Given the description of an element on the screen output the (x, y) to click on. 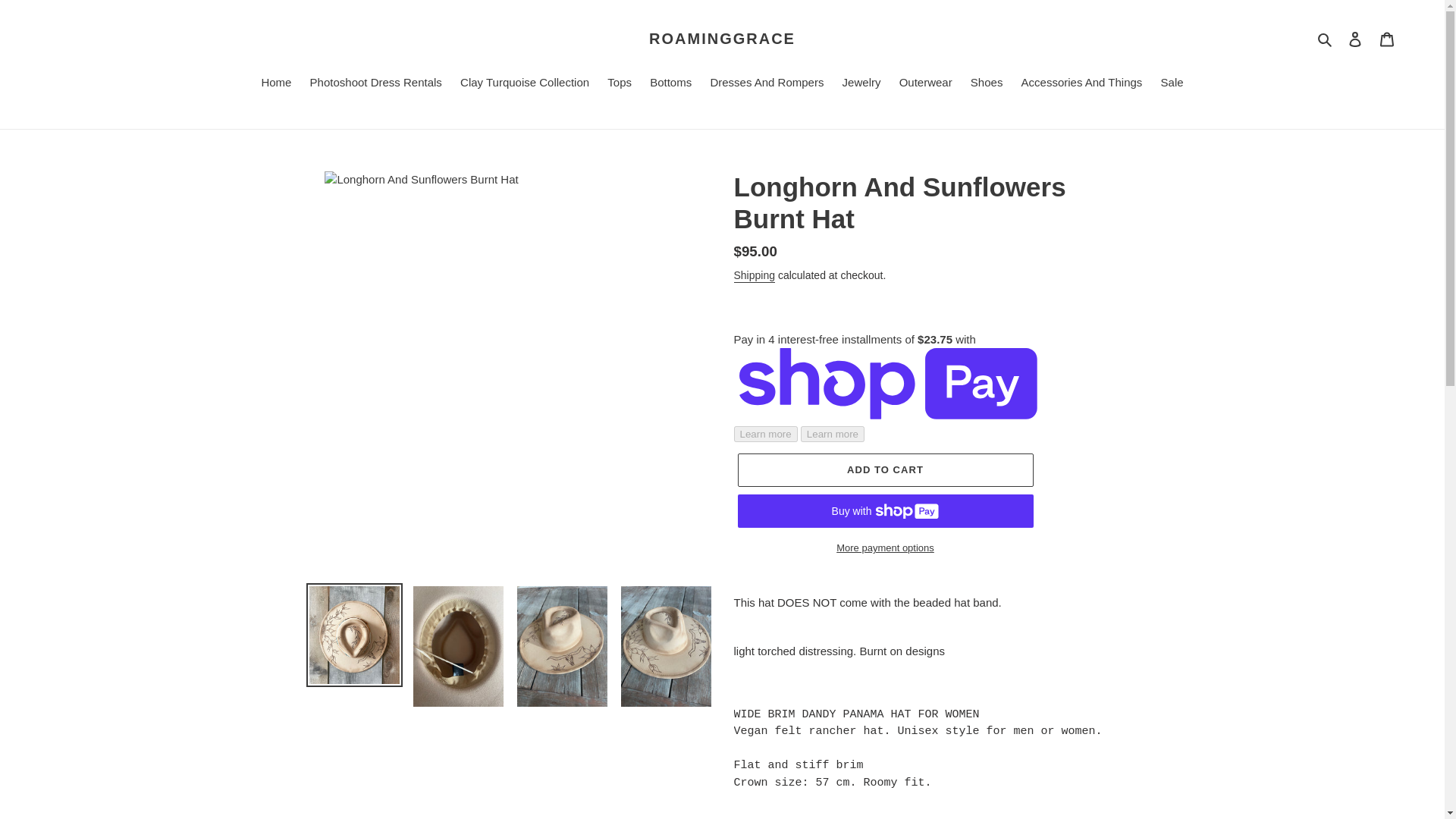
More payment options (884, 547)
Jewelry (861, 84)
Shipping (754, 275)
Shoes (986, 84)
Tops (619, 84)
ADD TO CART (884, 469)
Photoshoot Dress Rentals (375, 84)
Sale (1172, 84)
Outerwear (925, 84)
Log in (1355, 38)
Accessories And Things (1081, 84)
ROAMINGGRACE (721, 38)
Search (1326, 38)
Clay Turquoise Collection (524, 84)
Bottoms (670, 84)
